Given the description of an element on the screen output the (x, y) to click on. 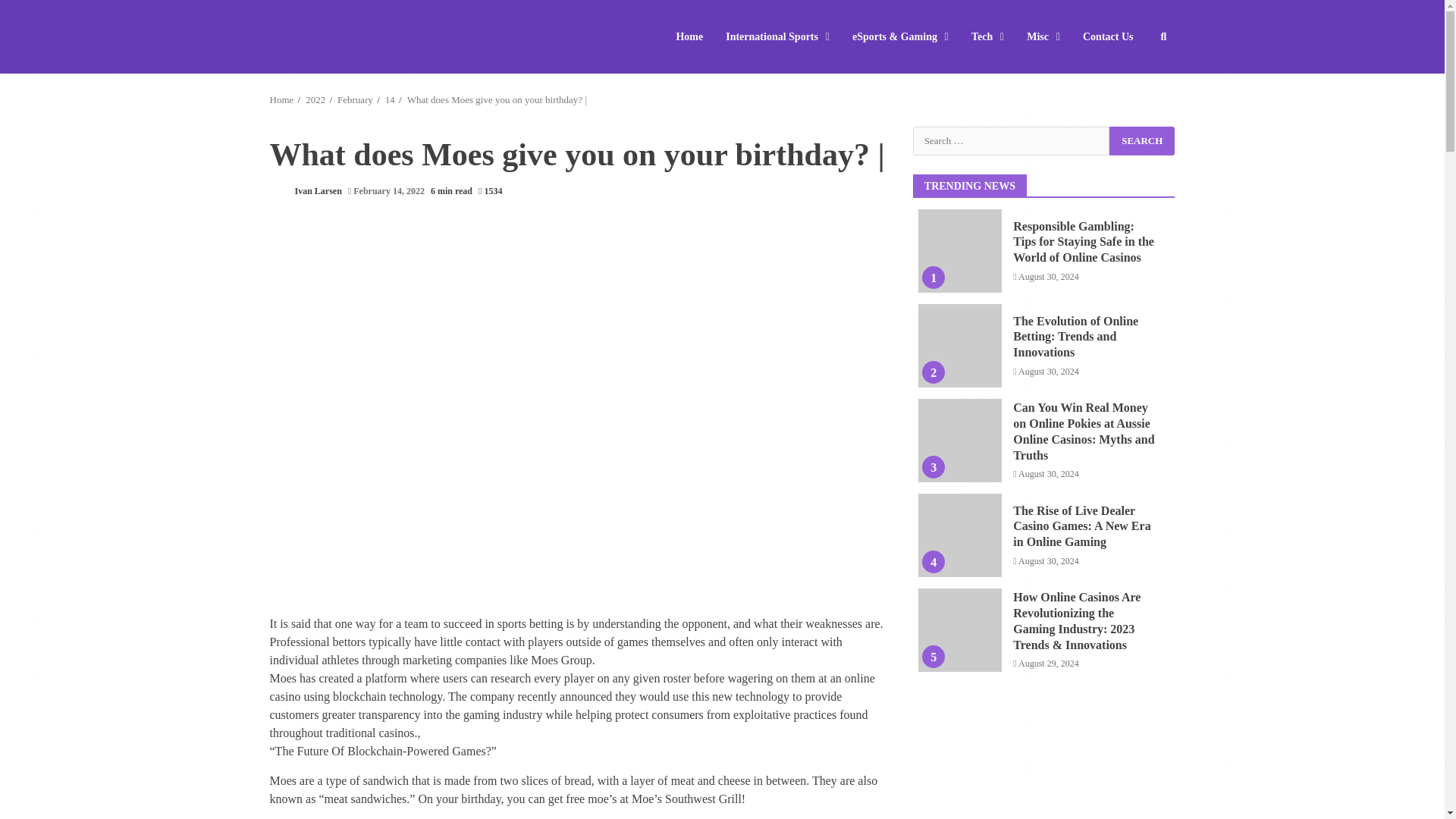
Misc (1042, 36)
Search (1141, 140)
International Sports (777, 36)
Contact Us (1102, 36)
Search (1135, 82)
Search (1141, 140)
February (354, 99)
Home (281, 99)
2022 (314, 99)
1534 (490, 191)
